Given the description of an element on the screen output the (x, y) to click on. 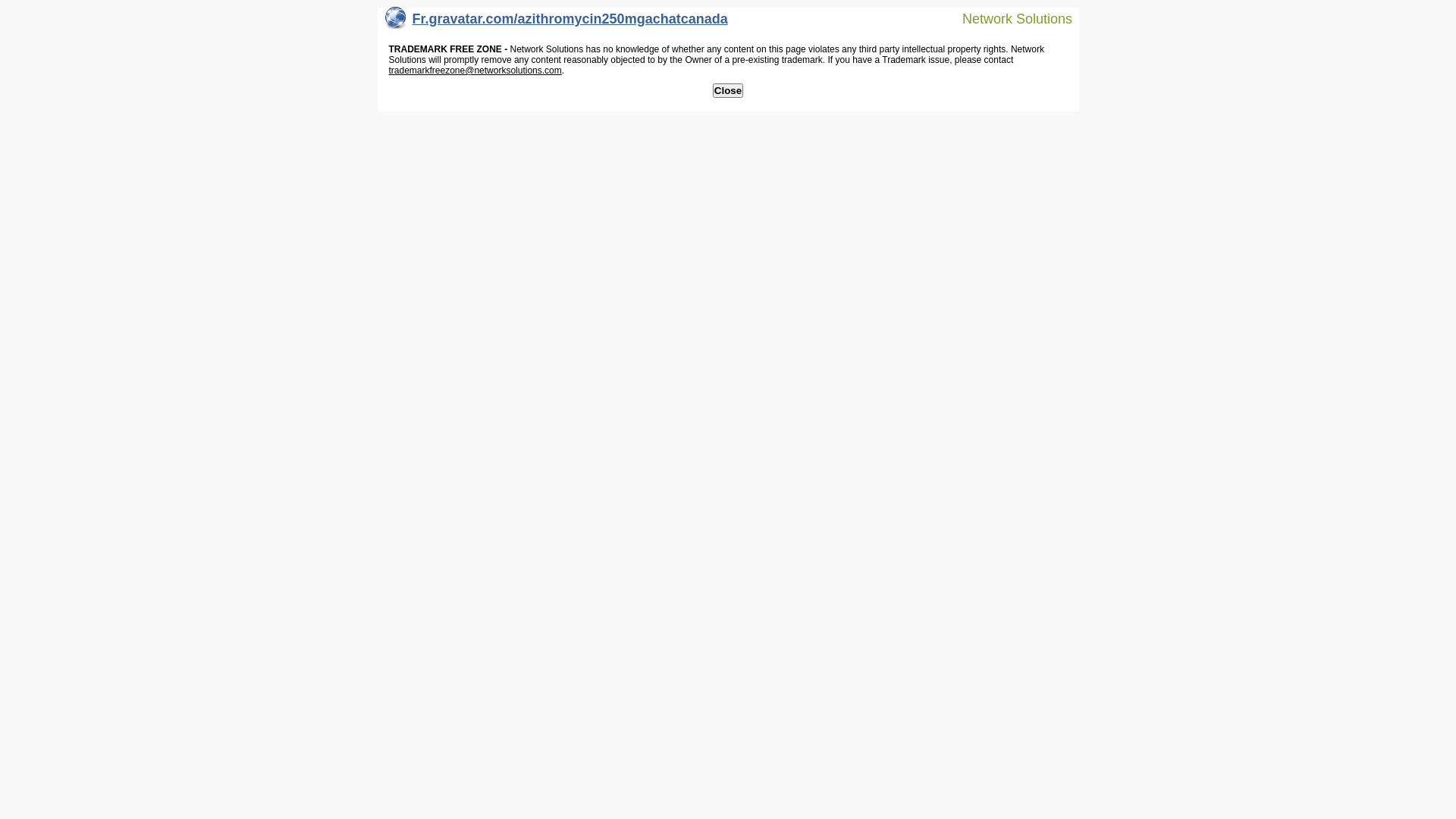
trademarkfreezone@networksolutions.com Element type: text (474, 70)
Fr.gravatar.com/azithromycin250mgachatcanada Element type: text (556, 21)
Network Solutions Element type: text (1007, 17)
Close Element type: text (727, 90)
